Given the description of an element on the screen output the (x, y) to click on. 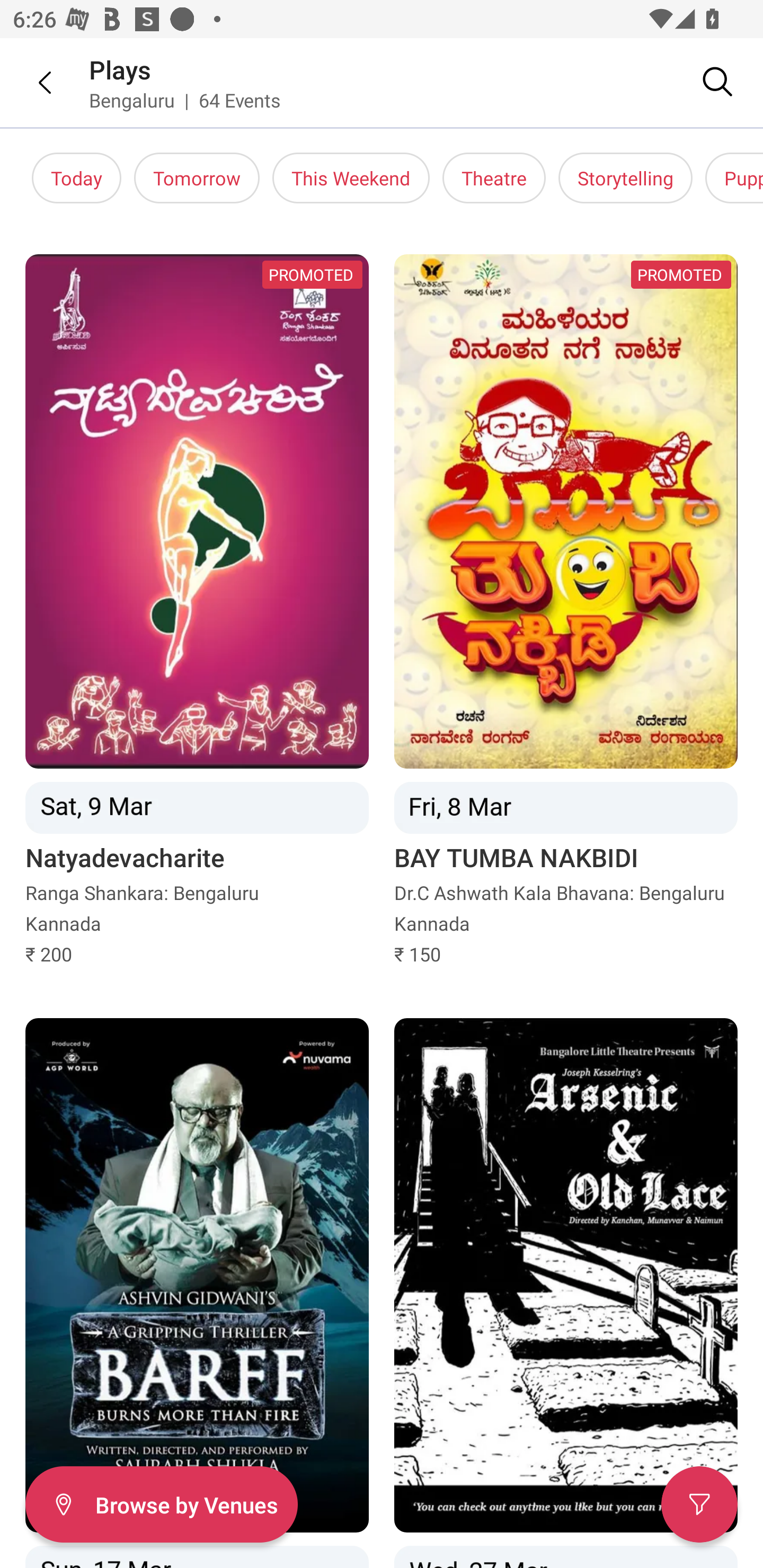
Back (31, 82)
Plays (120, 68)
Bengaluru  |  64 Events (185, 99)
Today (76, 177)
Tomorrow (196, 177)
This Weekend (350, 177)
Theatre (493, 177)
Storytelling (625, 177)
Filter Browse by Venues (161, 1504)
Filter (699, 1504)
